Given the description of an element on the screen output the (x, y) to click on. 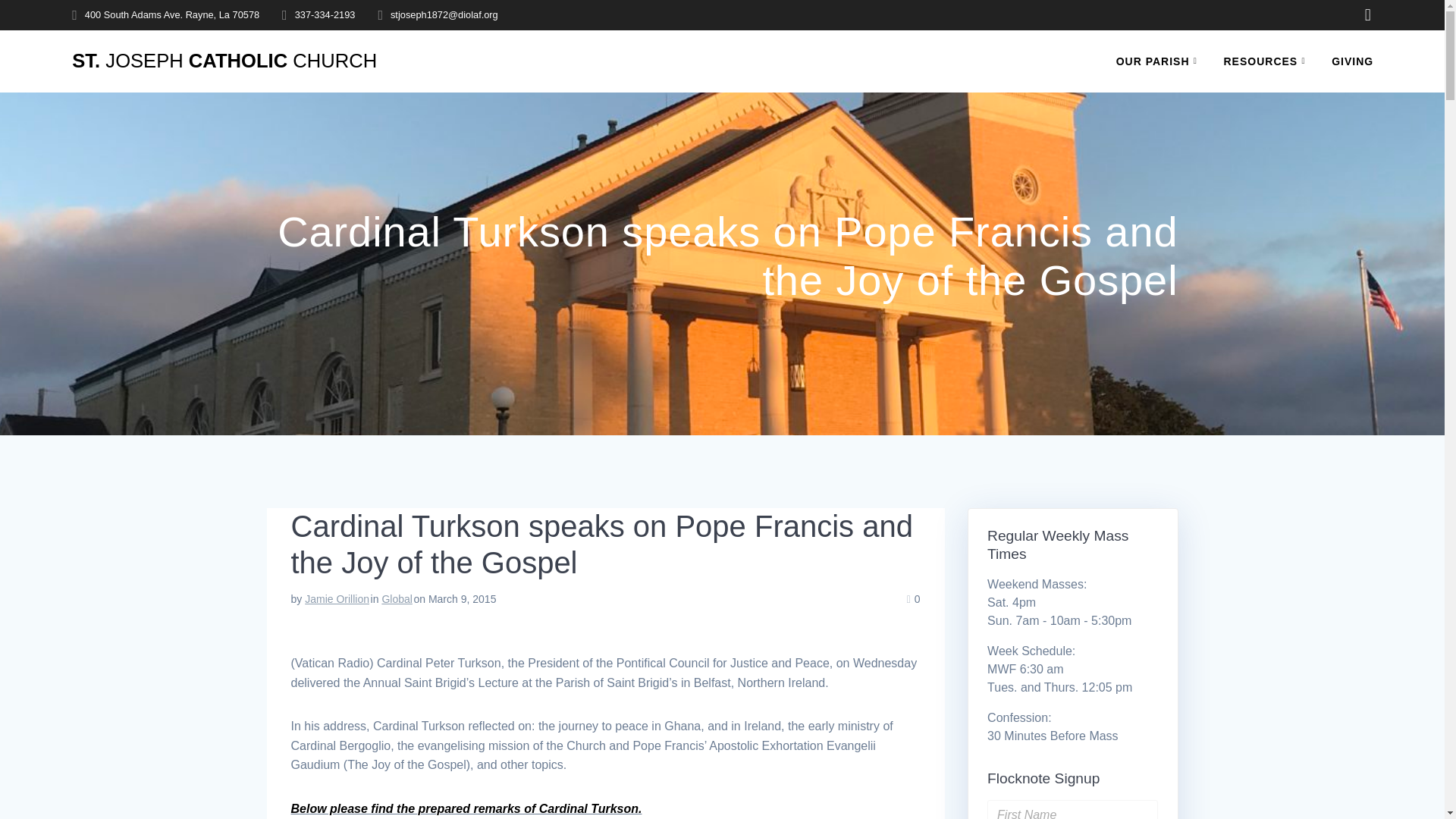
Jamie Orillion (336, 598)
Posts by Jamie Orillion (336, 598)
GIVING (1352, 61)
Global (396, 598)
OUR PARISH (1160, 61)
ST. JOSEPH CATHOLIC CHURCH (224, 61)
RESOURCES (1267, 61)
